Given the description of an element on the screen output the (x, y) to click on. 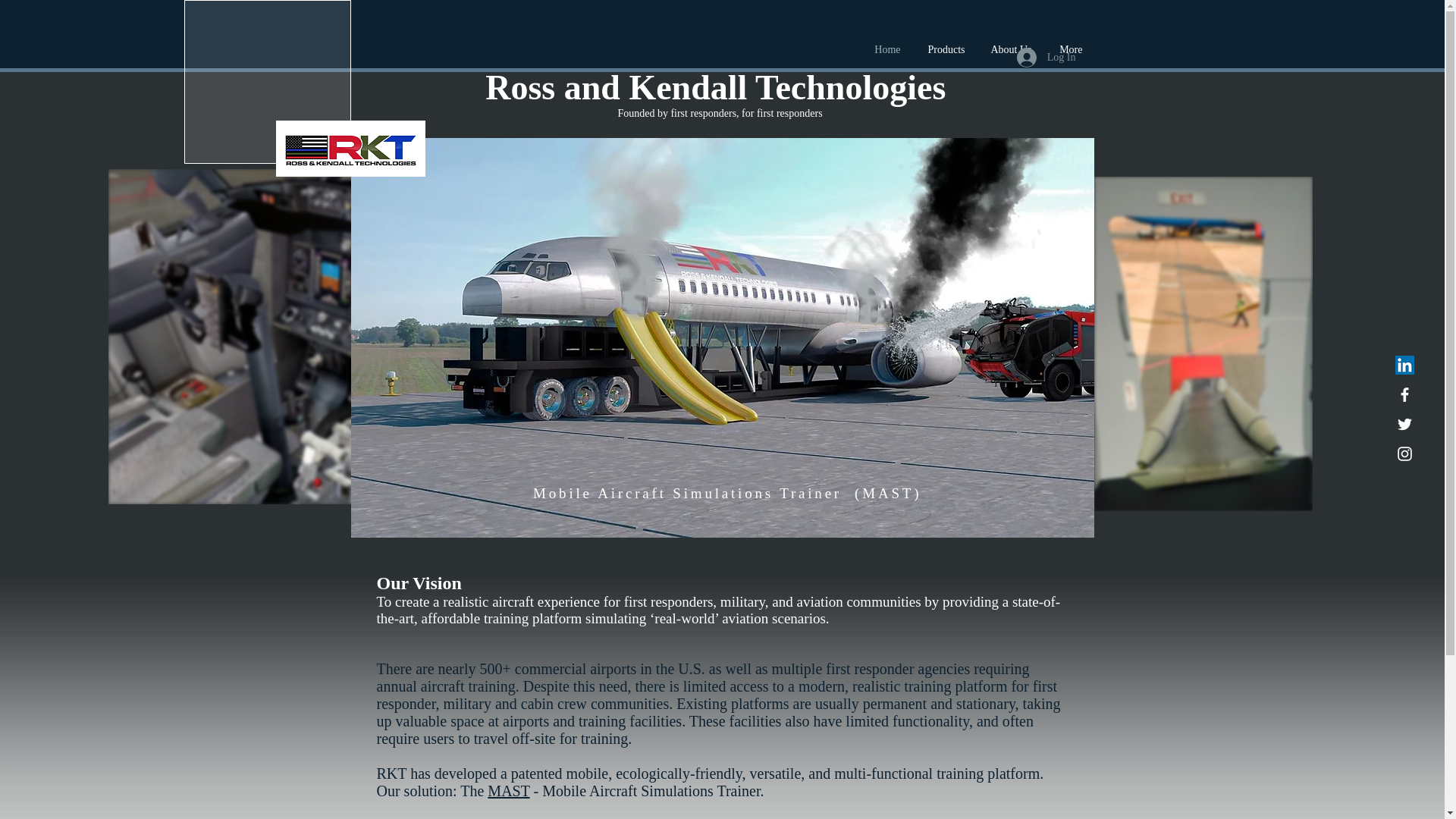
RKT LOGO.png (350, 148)
8.jpg (260, 336)
Products (944, 49)
About Us (1009, 49)
Home (885, 49)
Log In (1046, 57)
